Given the description of an element on the screen output the (x, y) to click on. 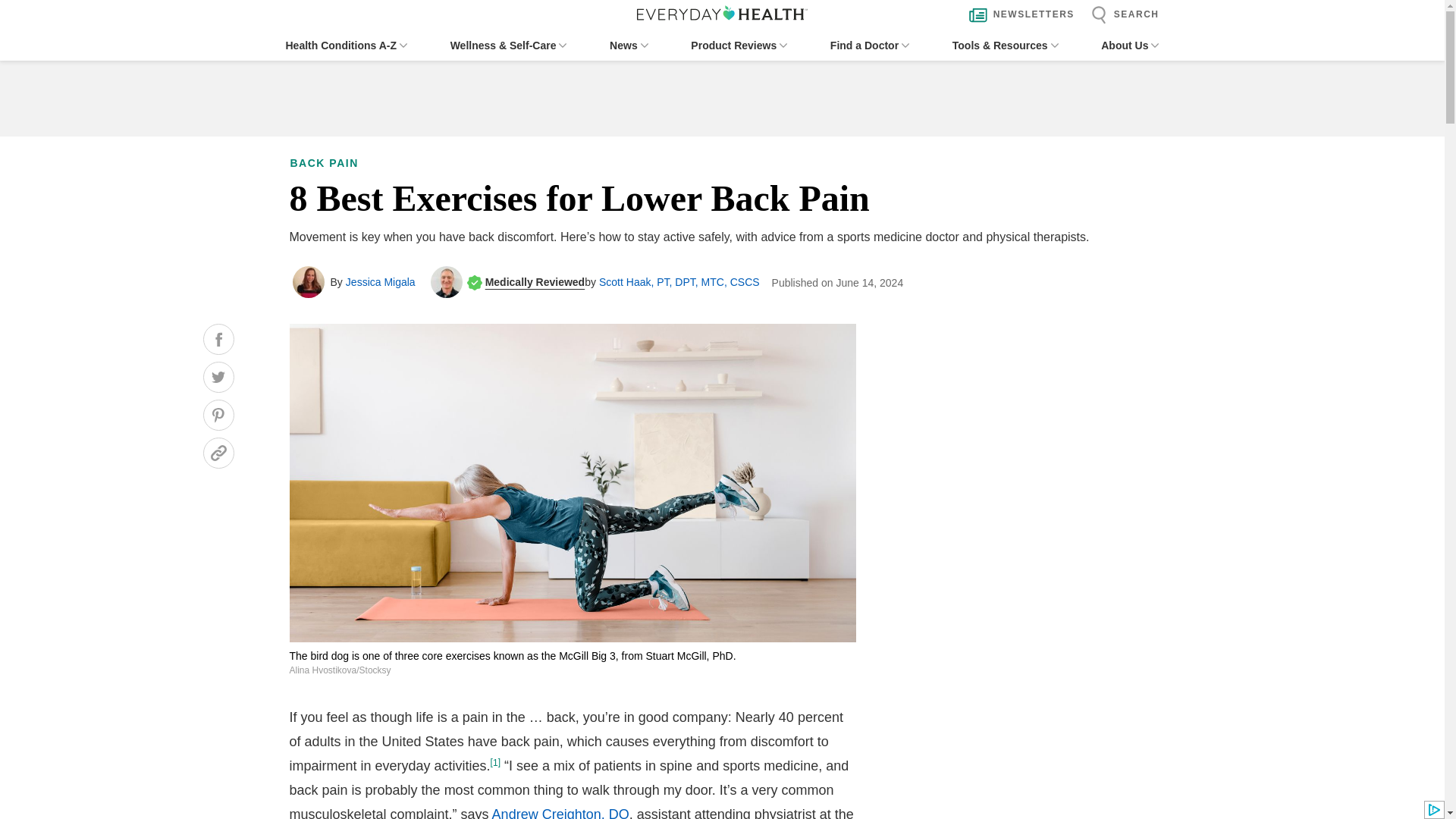
Find a Doctor (868, 45)
Health Conditions A-Z (345, 45)
About Us (1129, 45)
SEARCH (1120, 15)
News (628, 45)
Product Reviews (738, 45)
NEWSLETTERS (1018, 15)
